Given the description of an element on the screen output the (x, y) to click on. 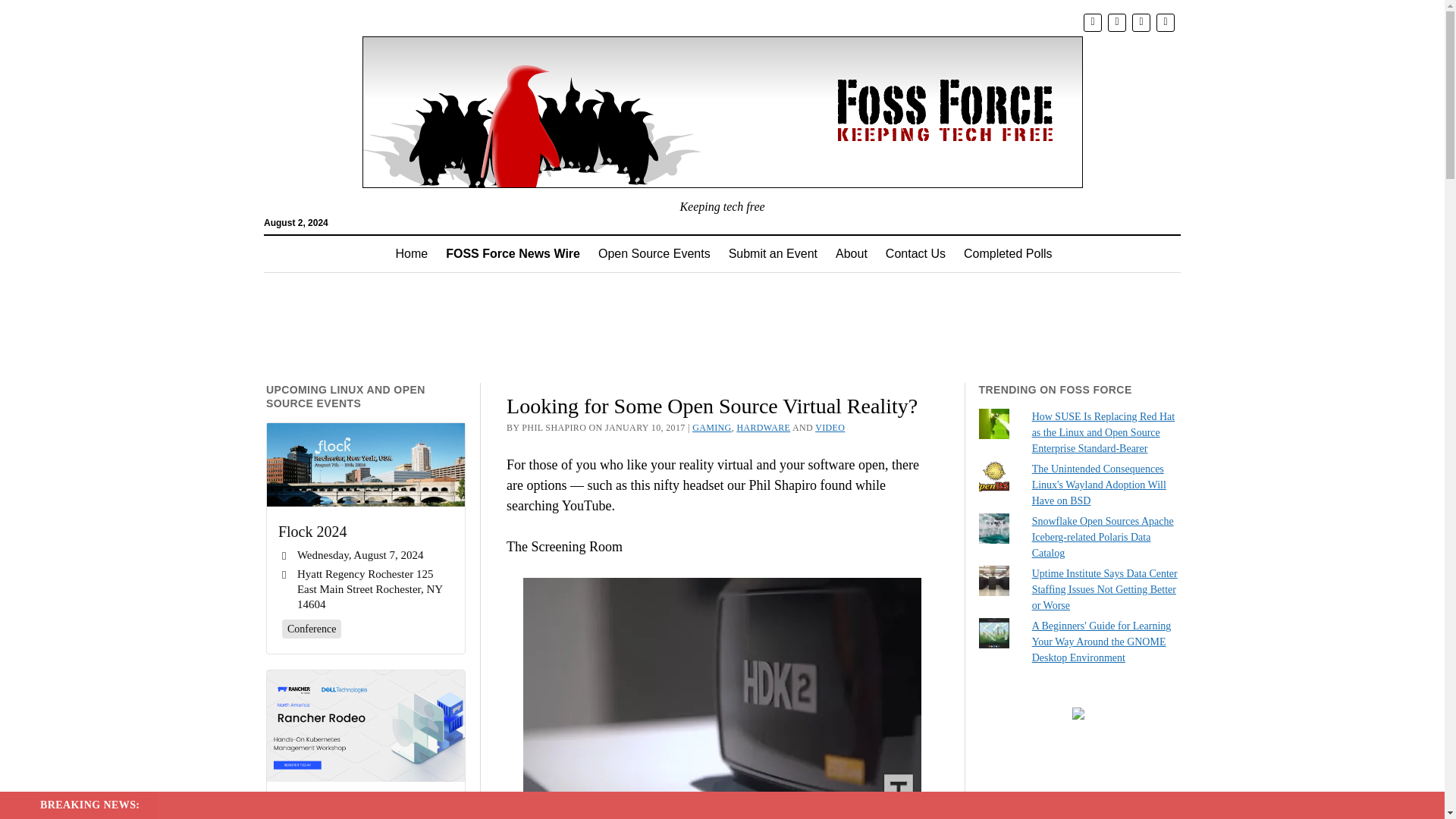
Rancher Rodeo Hands-On Kubernetes Workshop (365, 726)
Conference (312, 627)
About (851, 253)
Contact Us (915, 253)
Flock 2024 (365, 464)
Completed Polls (1008, 253)
Submit an Event (773, 253)
Home (412, 253)
FOSS Force News Wire (512, 253)
